Given the description of an element on the screen output the (x, y) to click on. 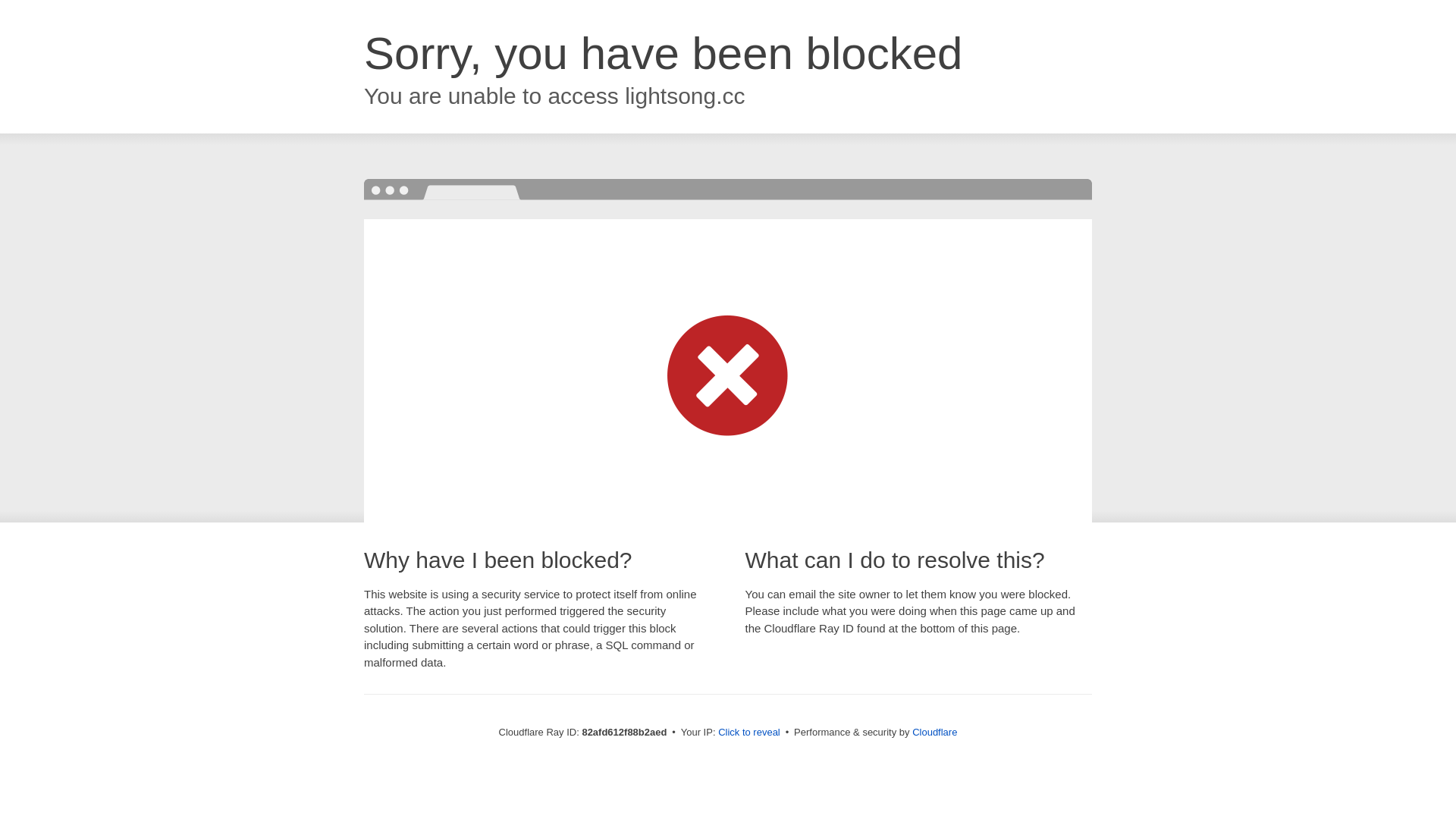
Click to reveal Element type: text (749, 732)
Cloudflare Element type: text (934, 731)
